Given the description of an element on the screen output the (x, y) to click on. 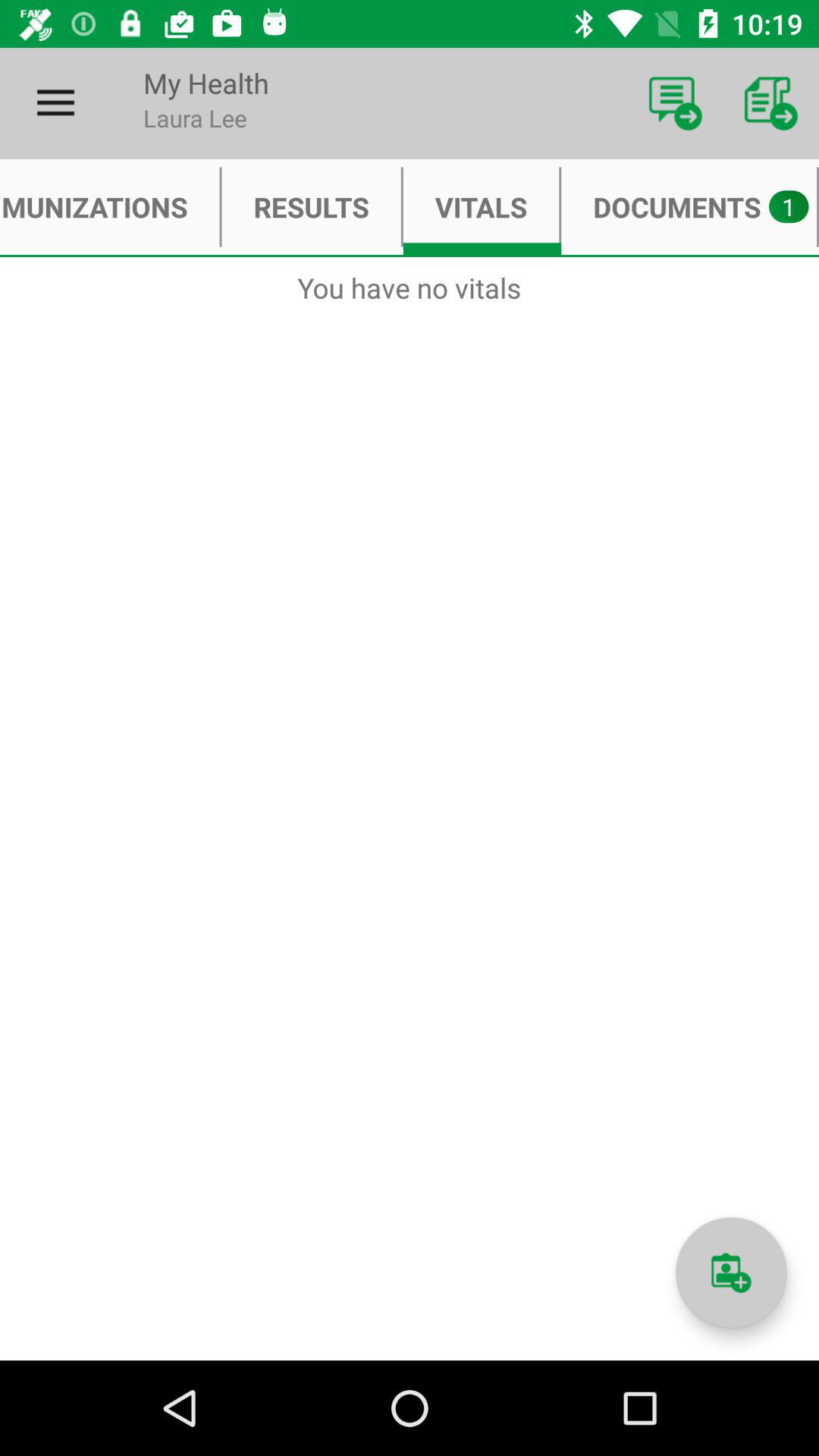
click item to the right of the my health icon (675, 103)
